Given the description of an element on the screen output the (x, y) to click on. 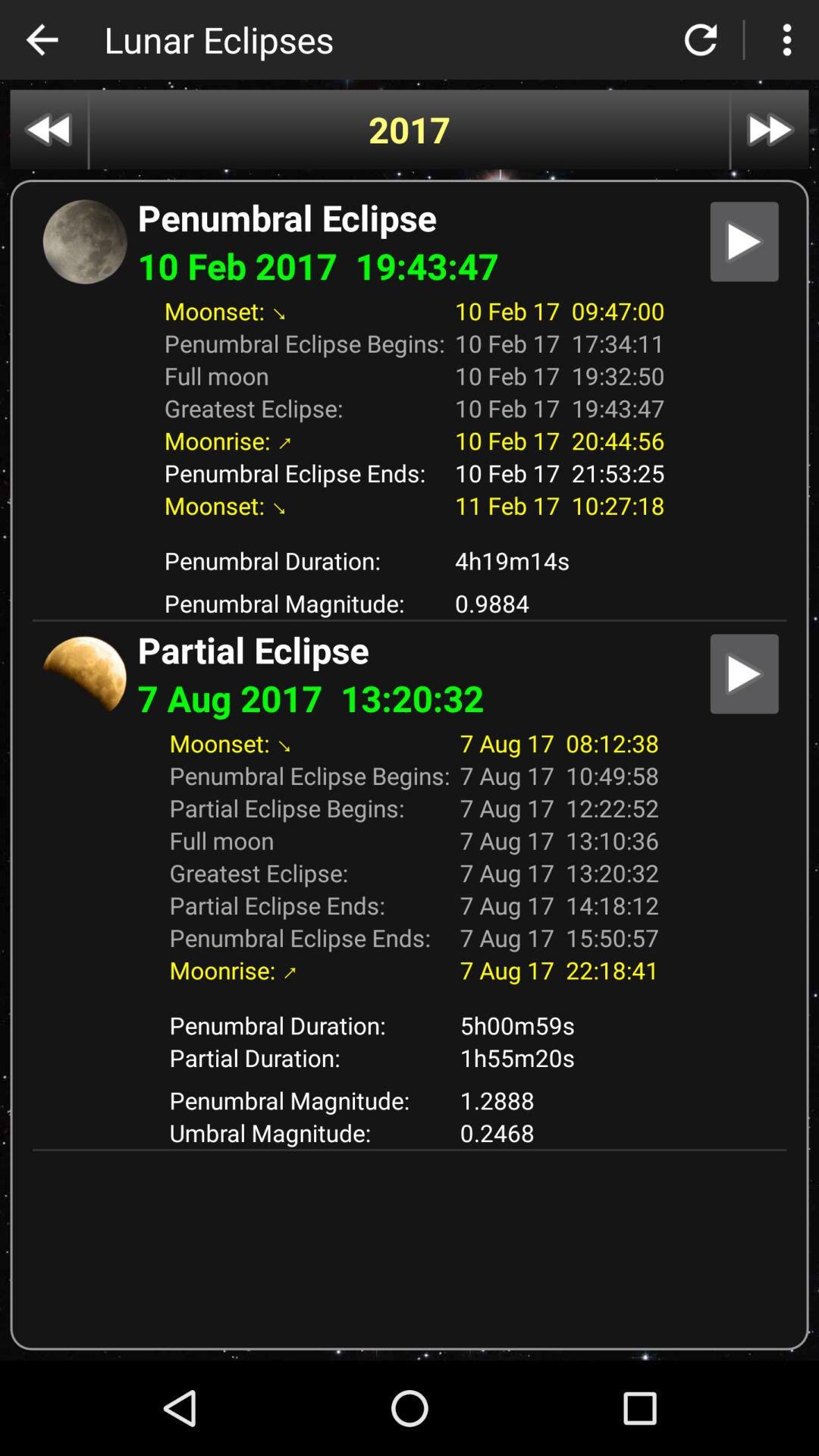
choose app to the right of the penumbral duration: icon (559, 1057)
